Given the description of an element on the screen output the (x, y) to click on. 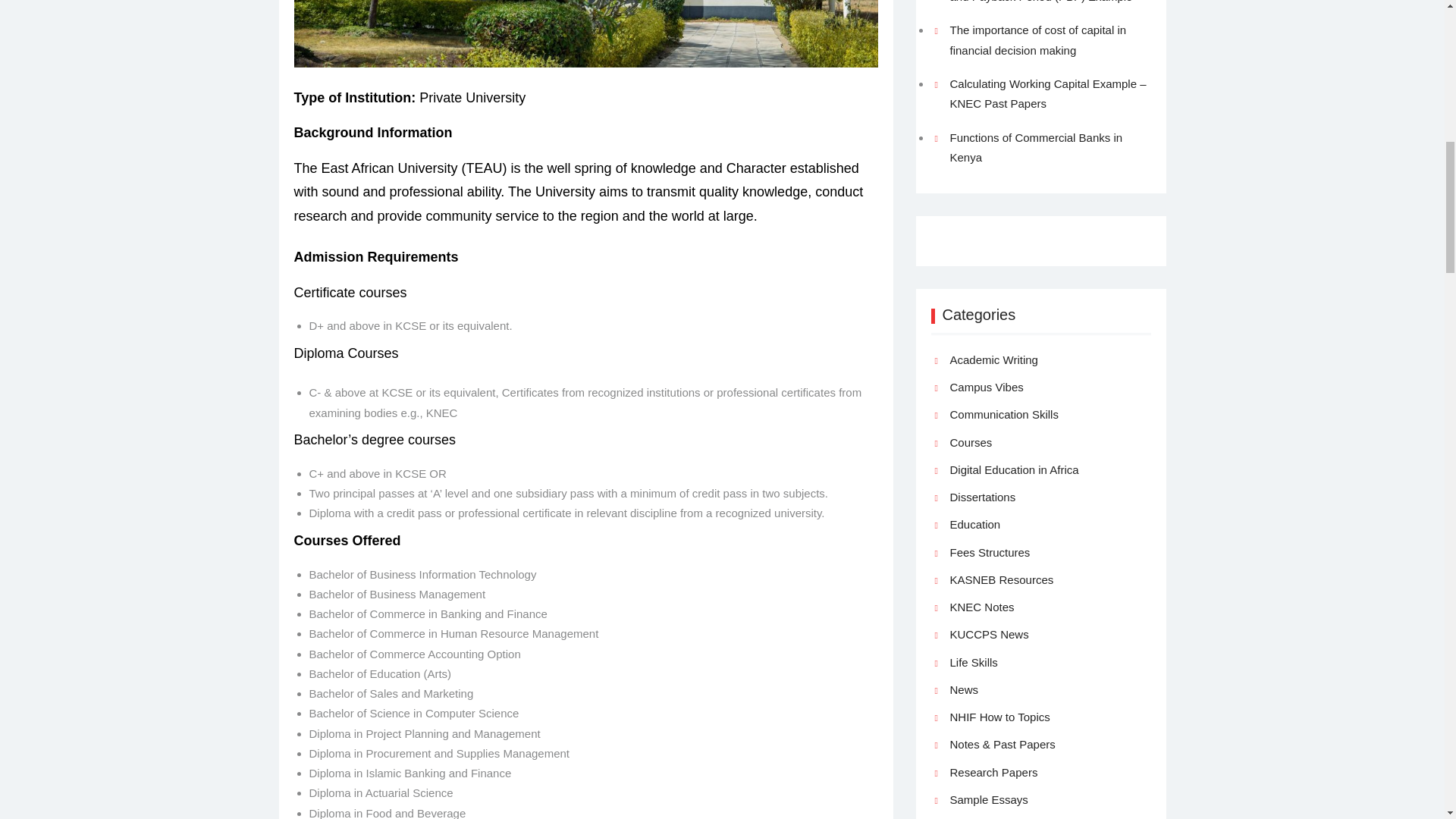
Functions of Commercial Banks in Kenya (1035, 147)
Academic Writing (992, 360)
